Given the description of an element on the screen output the (x, y) to click on. 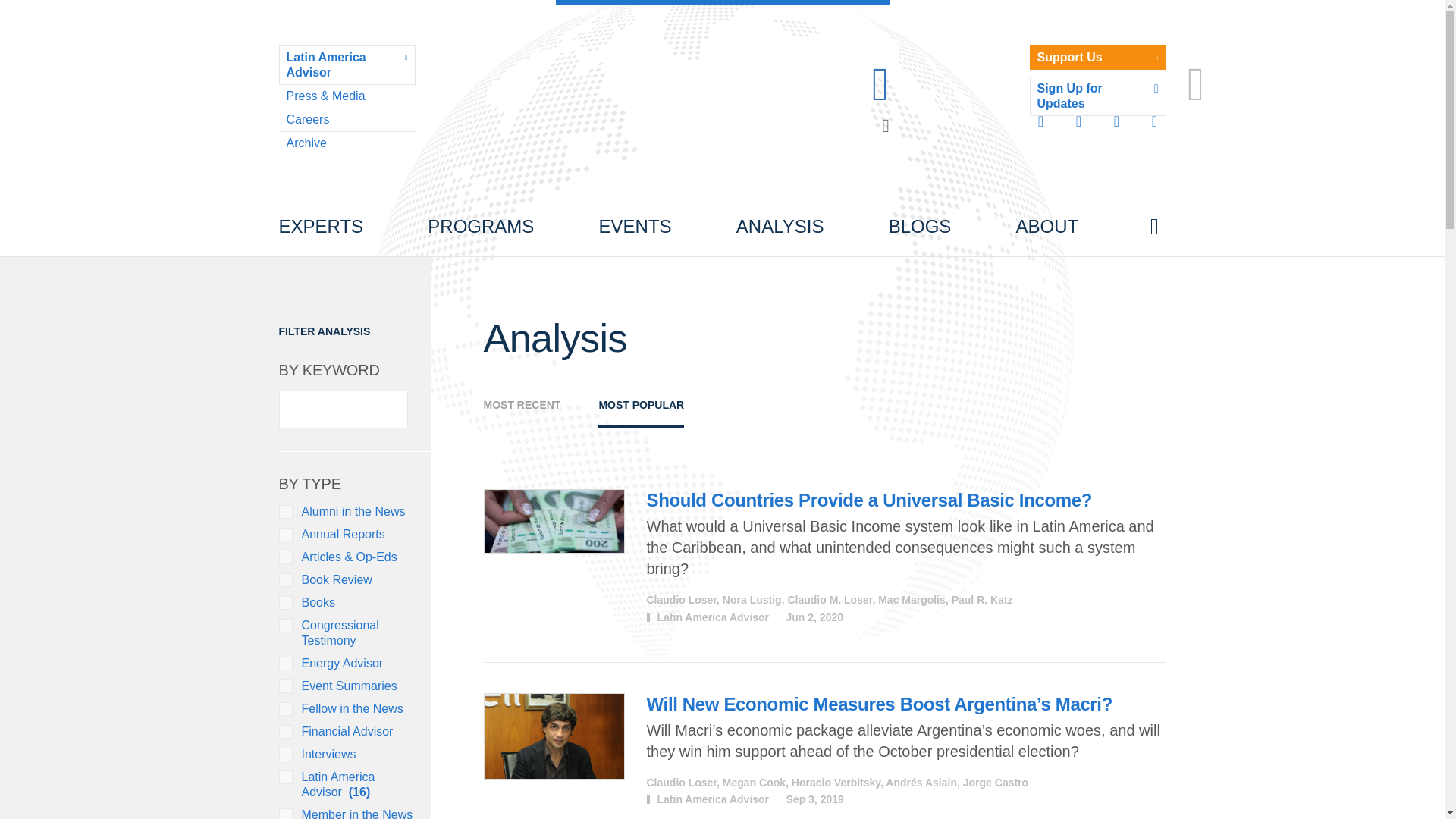
ABOUT (1047, 226)
PROGRAMS (481, 226)
ANALYSIS (780, 226)
EVENTS (634, 226)
BLOGS (920, 226)
EXPERTS (321, 226)
Sign Up for Updates (1097, 96)
Support Us (1097, 57)
